Given the description of an element on the screen output the (x, y) to click on. 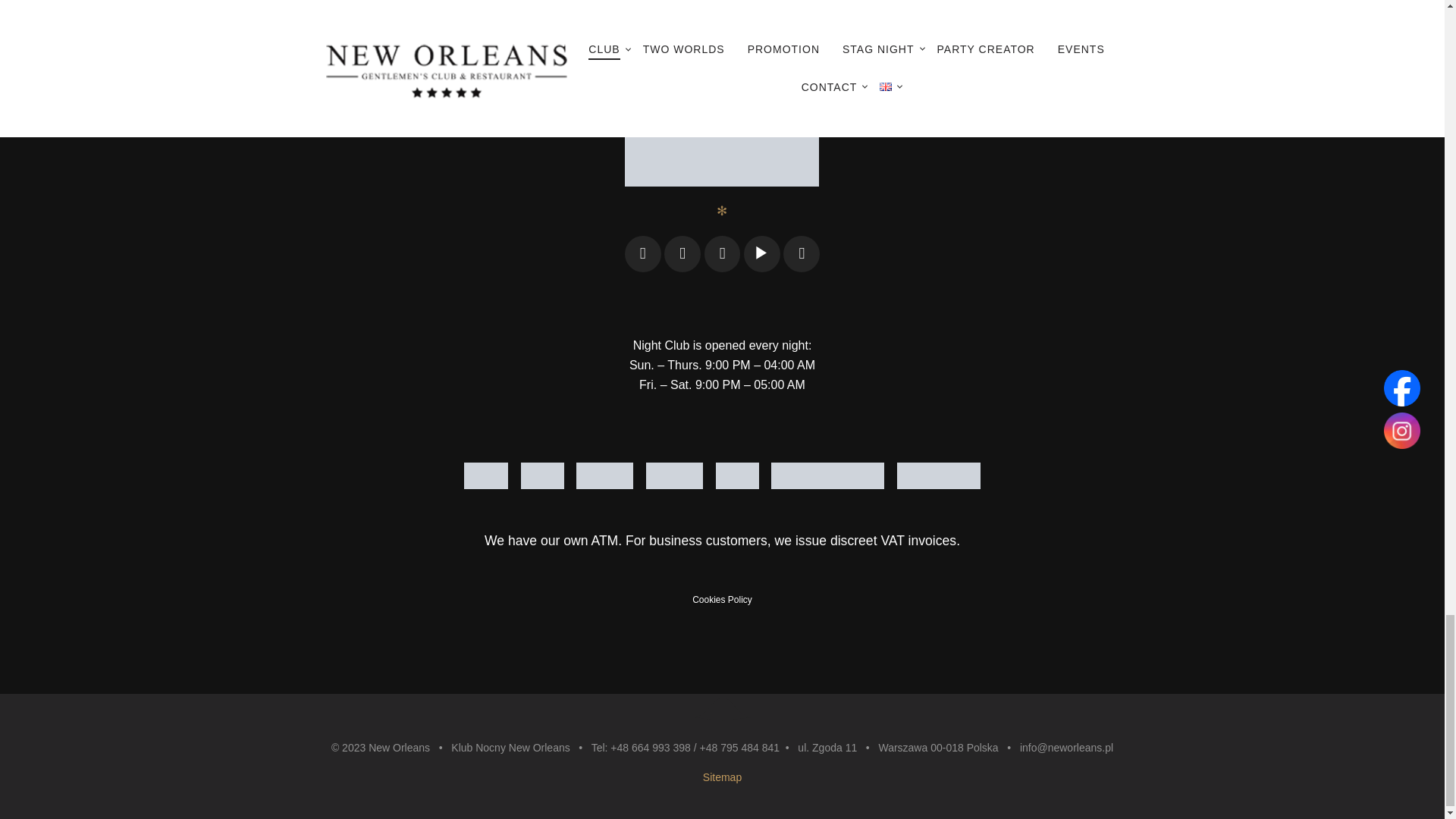
Cookies Policy (722, 599)
Sitemap (722, 776)
